Given the description of an element on the screen output the (x, y) to click on. 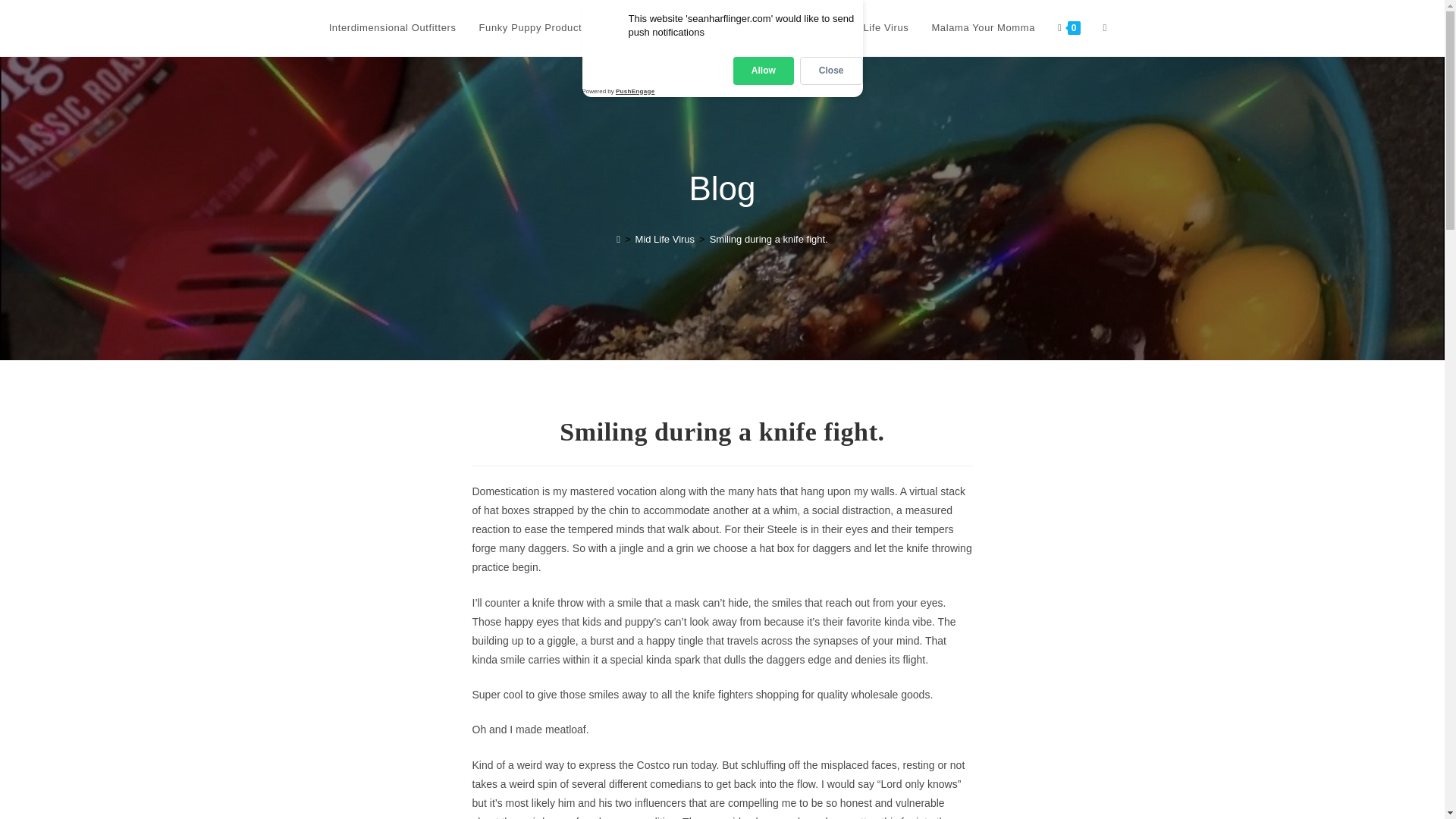
Mid Life Virus (664, 238)
Funky Puppy Productions (539, 28)
Sean Harflinger (721, 27)
Mid Life Virus (875, 28)
Malama Your Momma (983, 28)
Smiling during a knife fight. (769, 238)
Interdimensional Outfitters (392, 28)
